Given the description of an element on the screen output the (x, y) to click on. 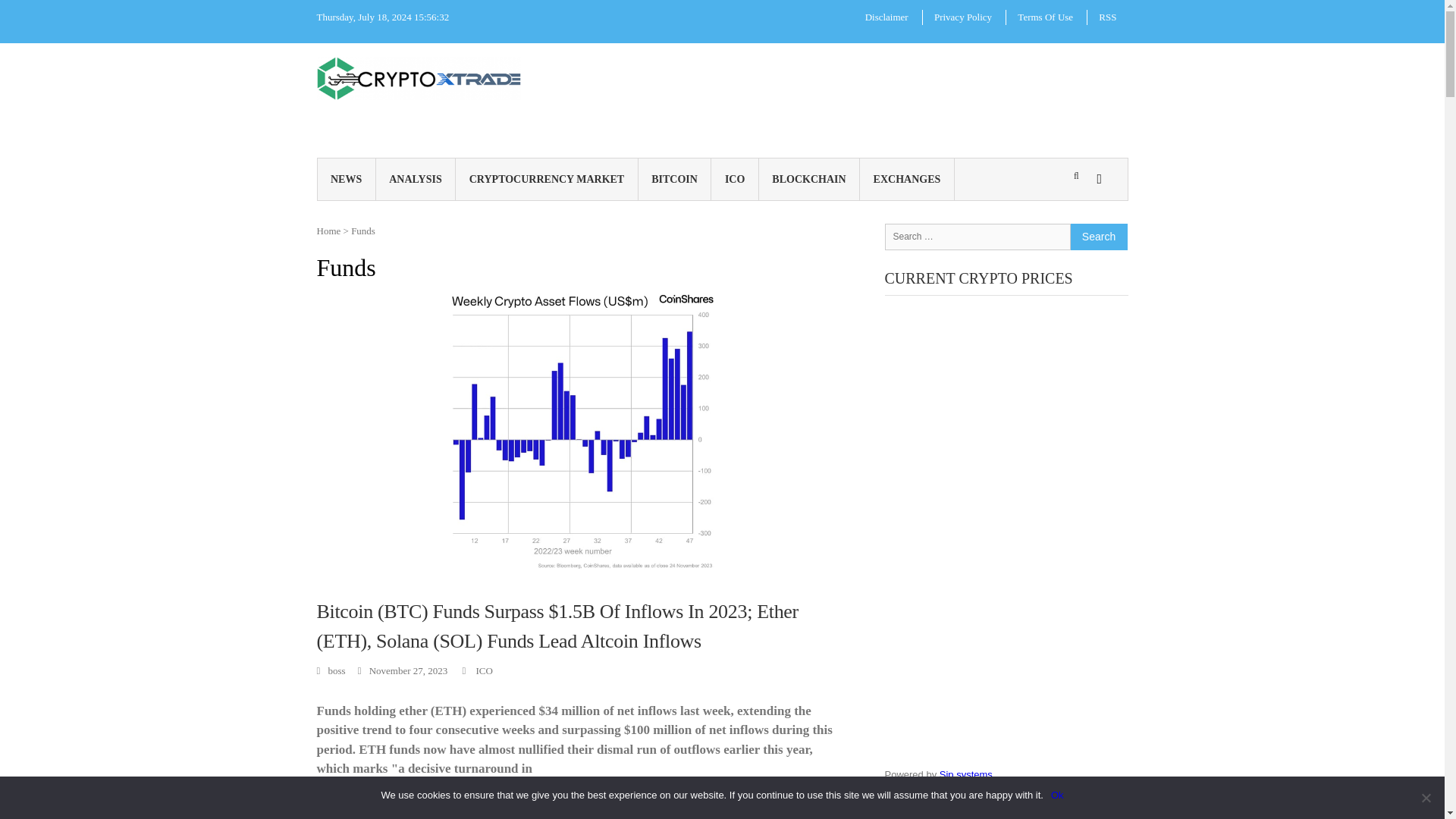
ANALYSIS (416, 178)
BITCOIN (675, 178)
EXCHANGES (907, 178)
Search (1098, 235)
Disclaimer (886, 16)
CRYPTOCURRENCY MARKET (546, 178)
Bitcoin (346, 809)
ICO (484, 670)
Privacy Policy (963, 16)
boss (331, 670)
November 27, 2023 (403, 670)
Terms Of Use (1045, 16)
ICO (734, 178)
RSS (1106, 16)
CRYPTOX (554, 87)
